Given the description of an element on the screen output the (x, y) to click on. 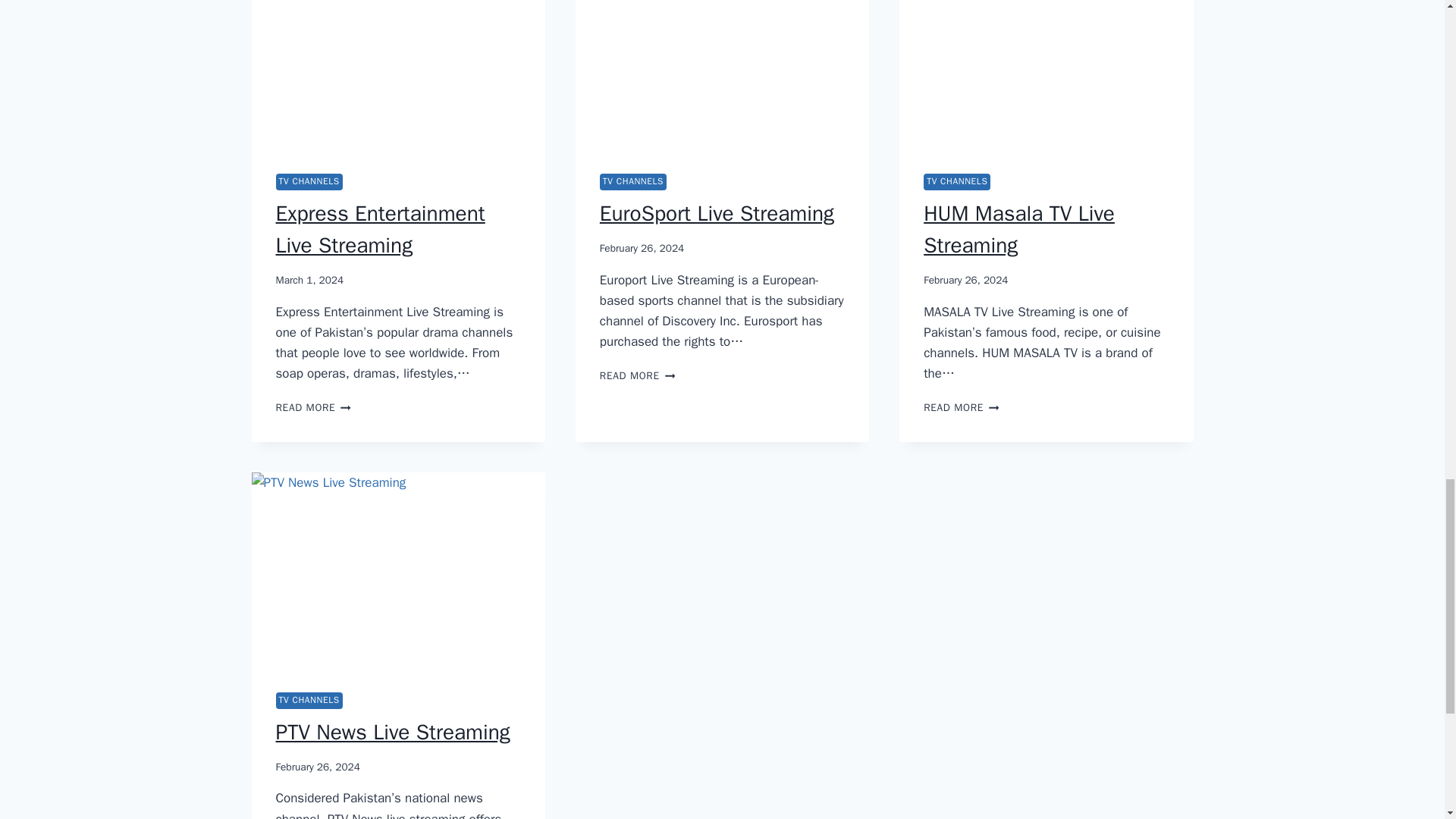
Express Entertainment Live Streaming (380, 228)
TV CHANNELS (632, 181)
TV CHANNELS (309, 181)
